Given the description of an element on the screen output the (x, y) to click on. 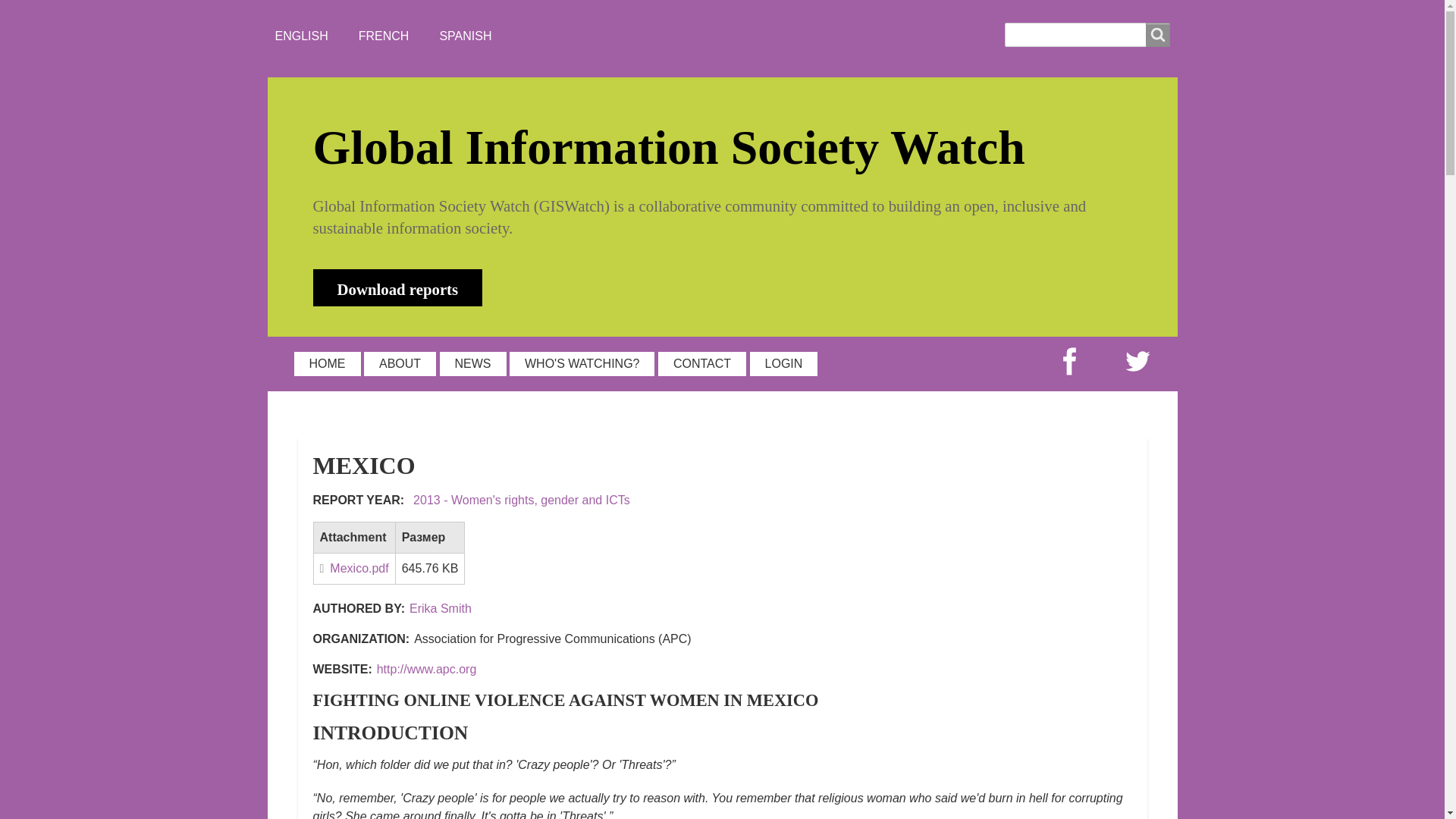
ABOUT (399, 363)
Erika Smith (440, 608)
LOGIN (783, 363)
WHO'S WATCHING? (582, 363)
SPANISH (465, 35)
Download reports (397, 287)
2013 - Women's rights, gender and ICTs (521, 499)
CONTACT (701, 363)
ENGLISH (301, 35)
NEWS (472, 363)
FRENCH (383, 35)
Mexico.pdf (354, 567)
Enter the terms you wish to search for. (1086, 34)
HOME (327, 363)
